Given the description of an element on the screen output the (x, y) to click on. 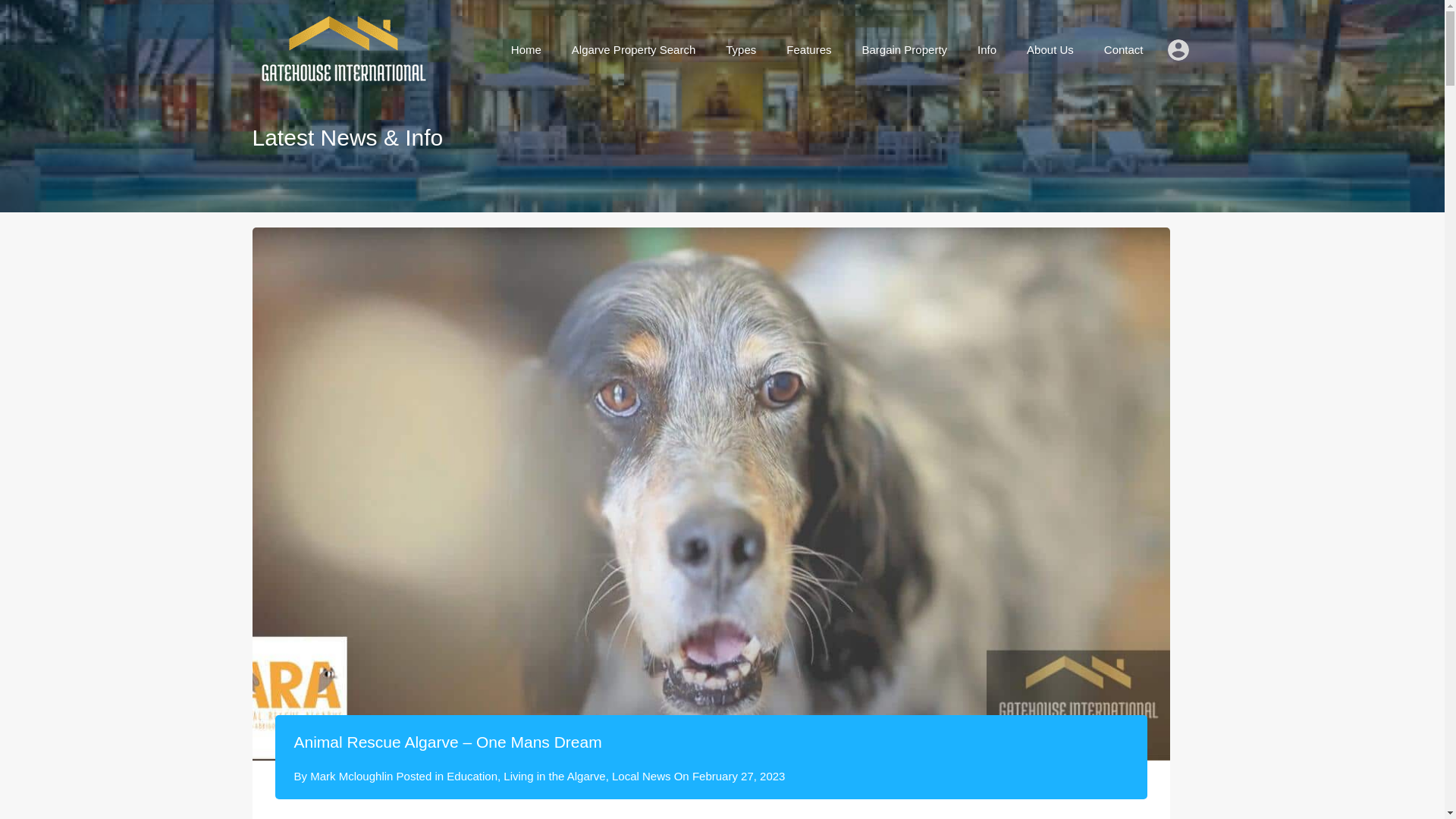
Algarve Property For Sale (340, 76)
